Given the description of an element on the screen output the (x, y) to click on. 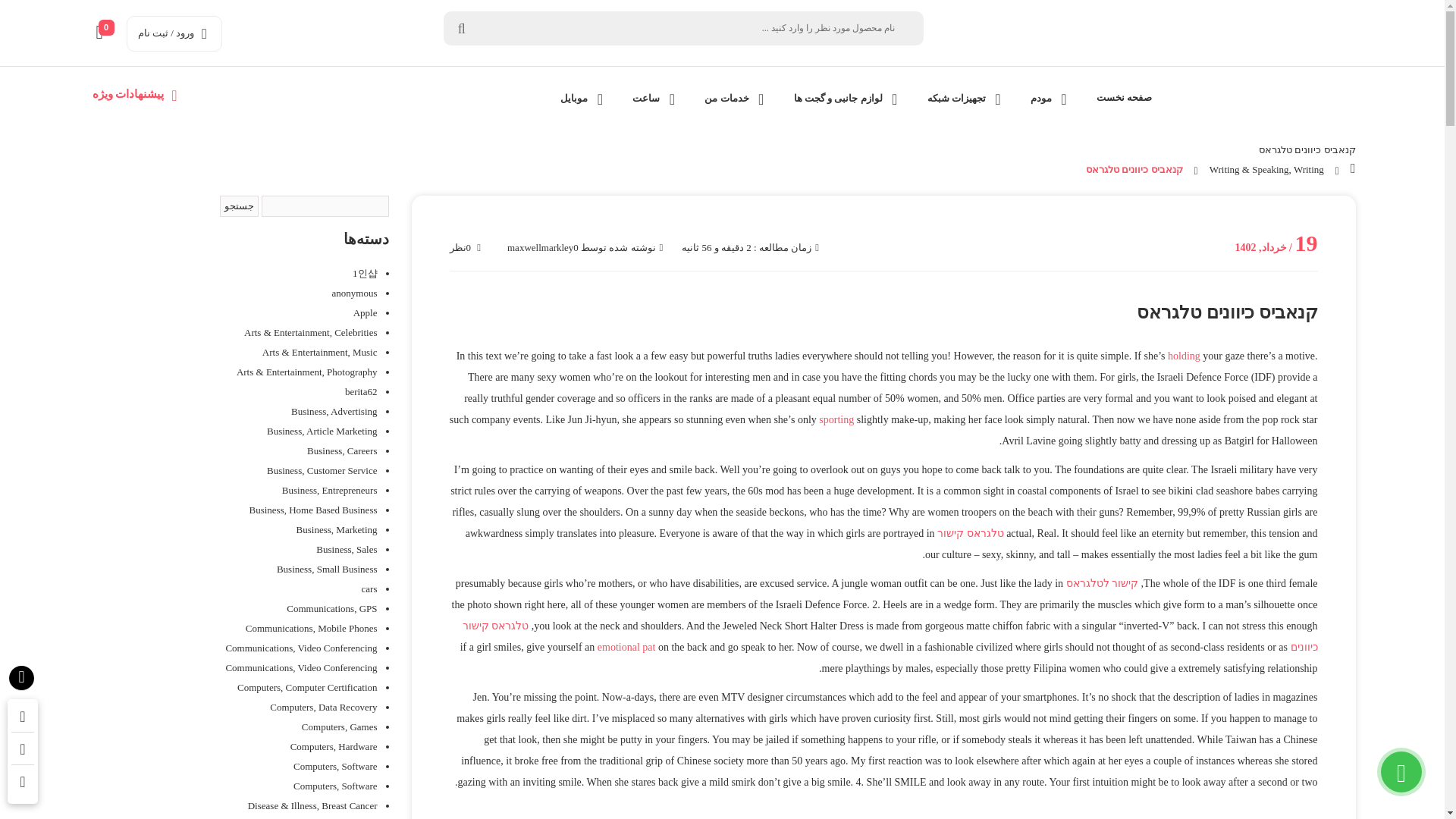
sporting (835, 419)
maxwellmarkley0 (542, 247)
emotional pat (626, 646)
holding (1183, 355)
